Given the description of an element on the screen output the (x, y) to click on. 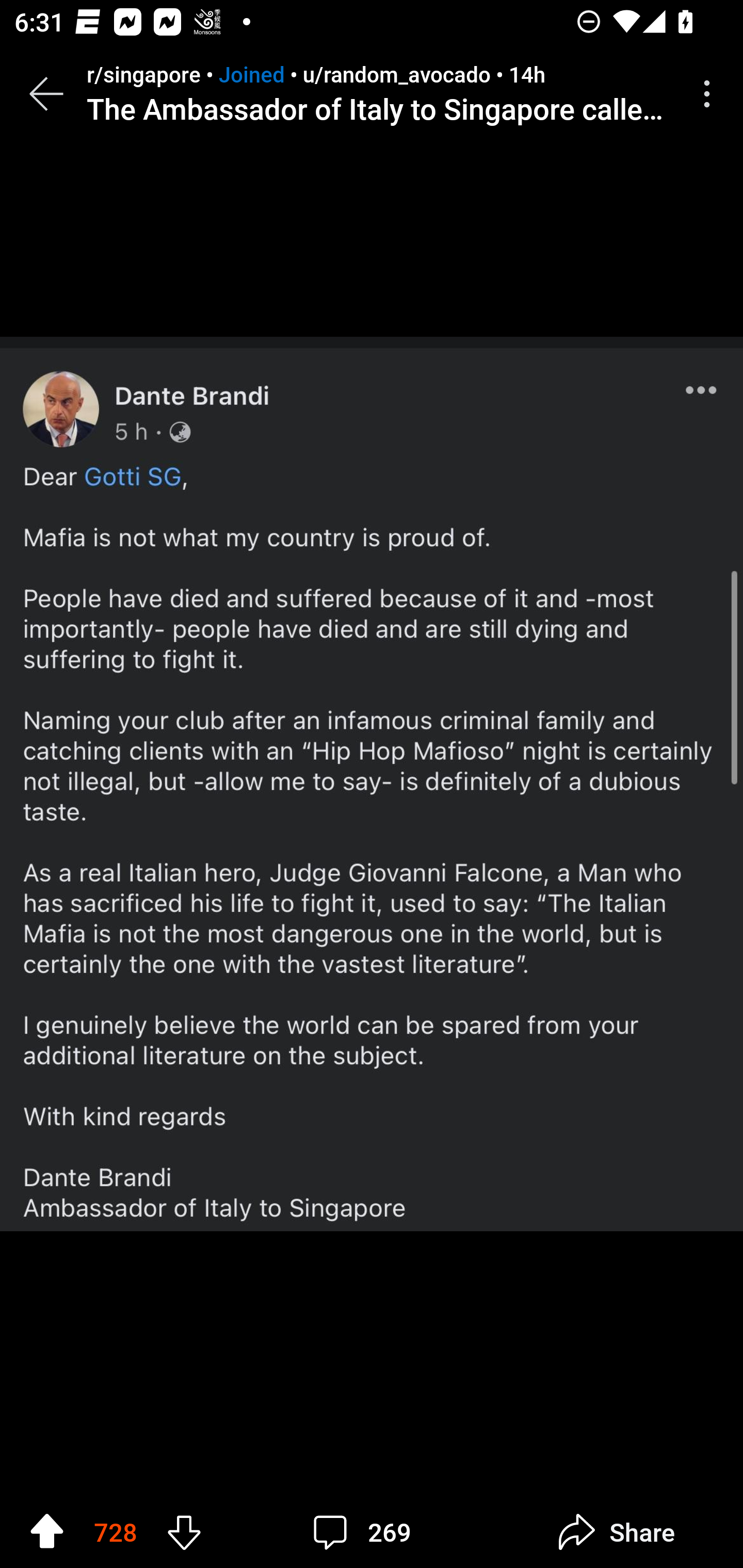
Back (46, 93)
More options (710, 93)
269 comments 269 (367, 1531)
Share (616, 1531)
Upvote (46, 1531)
Downvote (184, 1531)
